Given the description of an element on the screen output the (x, y) to click on. 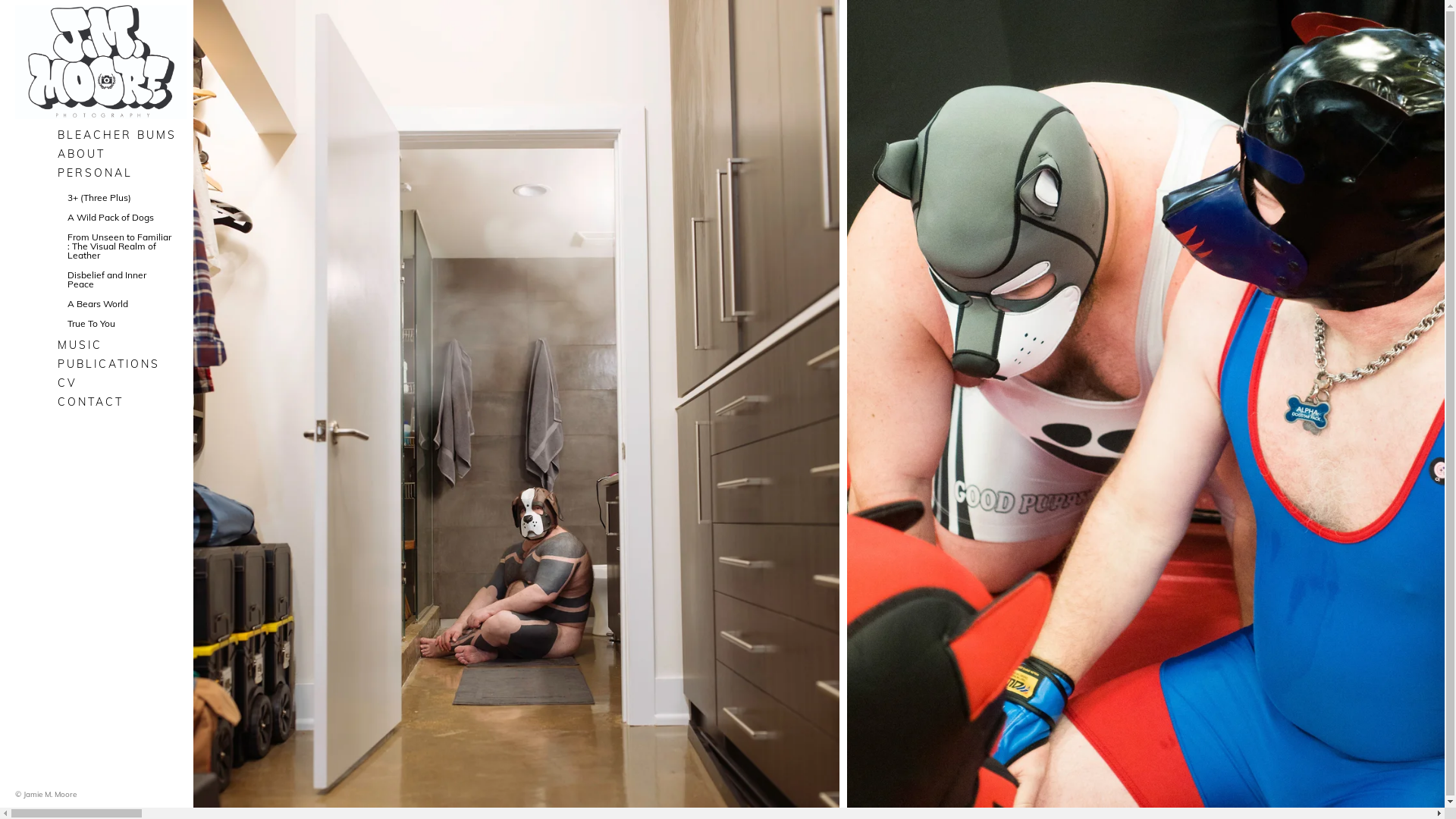
PERSONAL Element type: text (119, 172)
3+ (Three Plus) Element type: text (119, 197)
A Wild Pack of Dogs Element type: text (119, 217)
CV Element type: text (119, 382)
From Unseen to Familiar : The Visual Realm of Leather Element type: text (119, 246)
True To You Element type: text (119, 323)
PUBLICATIONS Element type: text (119, 363)
MUSIC Element type: text (119, 344)
CONTACT Element type: text (119, 401)
BLEACHER BUMS Element type: text (119, 134)
A Bears World Element type: text (119, 303)
Disbelief and Inner Peace Element type: text (119, 279)
ABOUT Element type: text (119, 153)
